Given the description of an element on the screen output the (x, y) to click on. 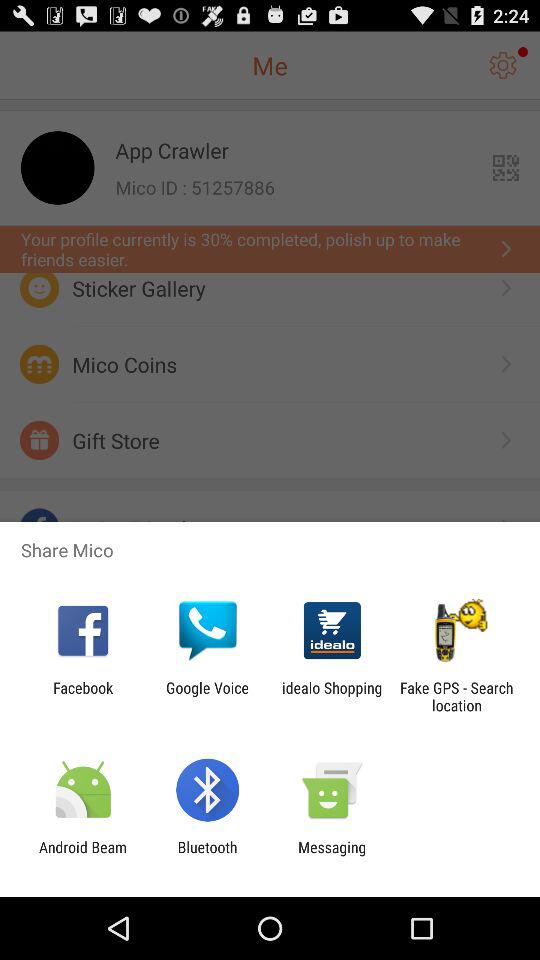
open item at the bottom right corner (456, 696)
